Given the description of an element on the screen output the (x, y) to click on. 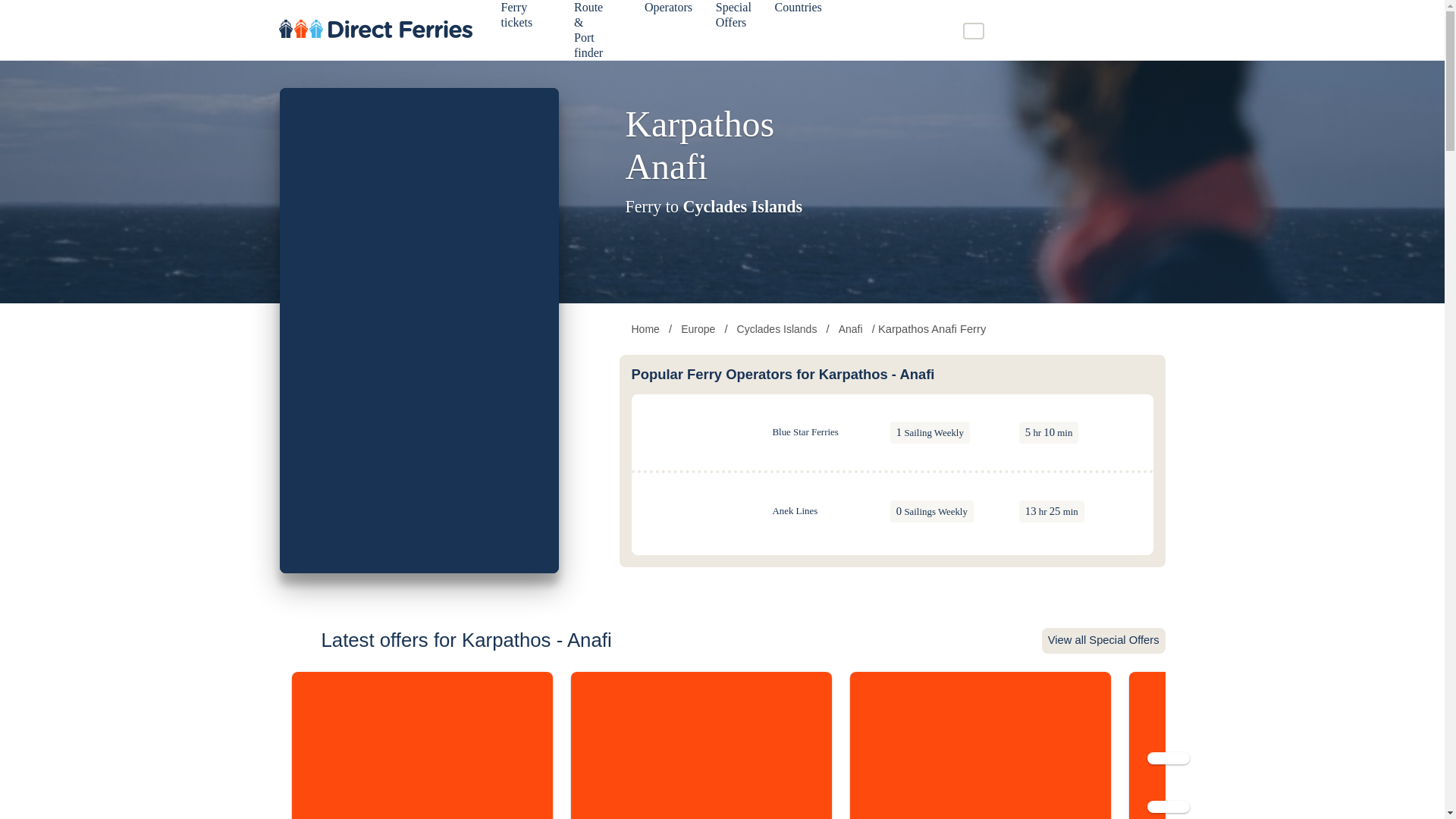
Special Offers (736, 18)
Ferry tickets (519, 18)
Countries (800, 10)
Operators (671, 10)
